Given the description of an element on the screen output the (x, y) to click on. 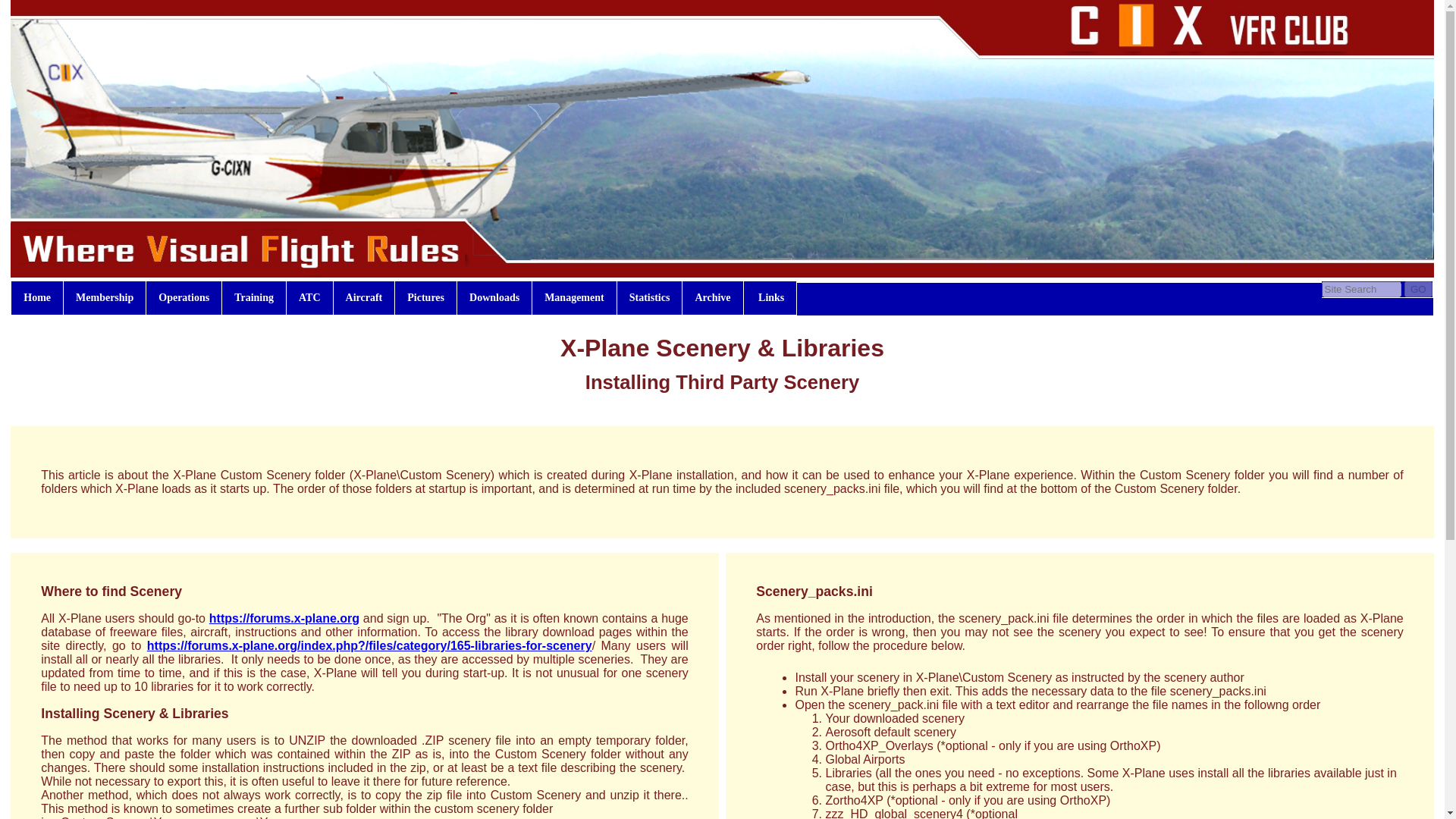
Pictures (425, 297)
Aircraft (363, 297)
GO (1418, 289)
Training (253, 297)
Membership (104, 297)
Home (36, 297)
ATC (309, 297)
Operations (184, 297)
